Given the description of an element on the screen output the (x, y) to click on. 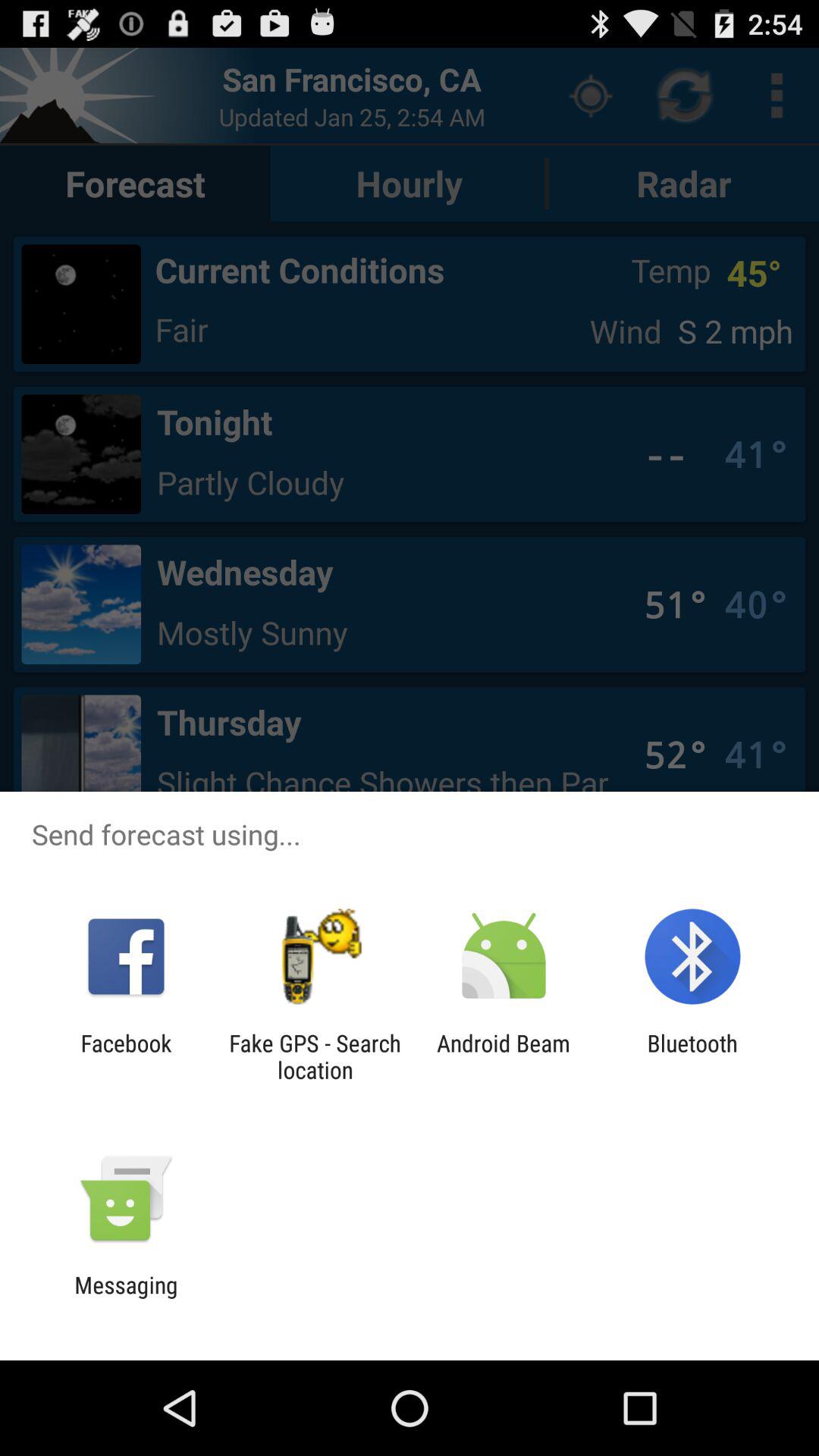
flip to the fake gps search item (314, 1056)
